Given the description of an element on the screen output the (x, y) to click on. 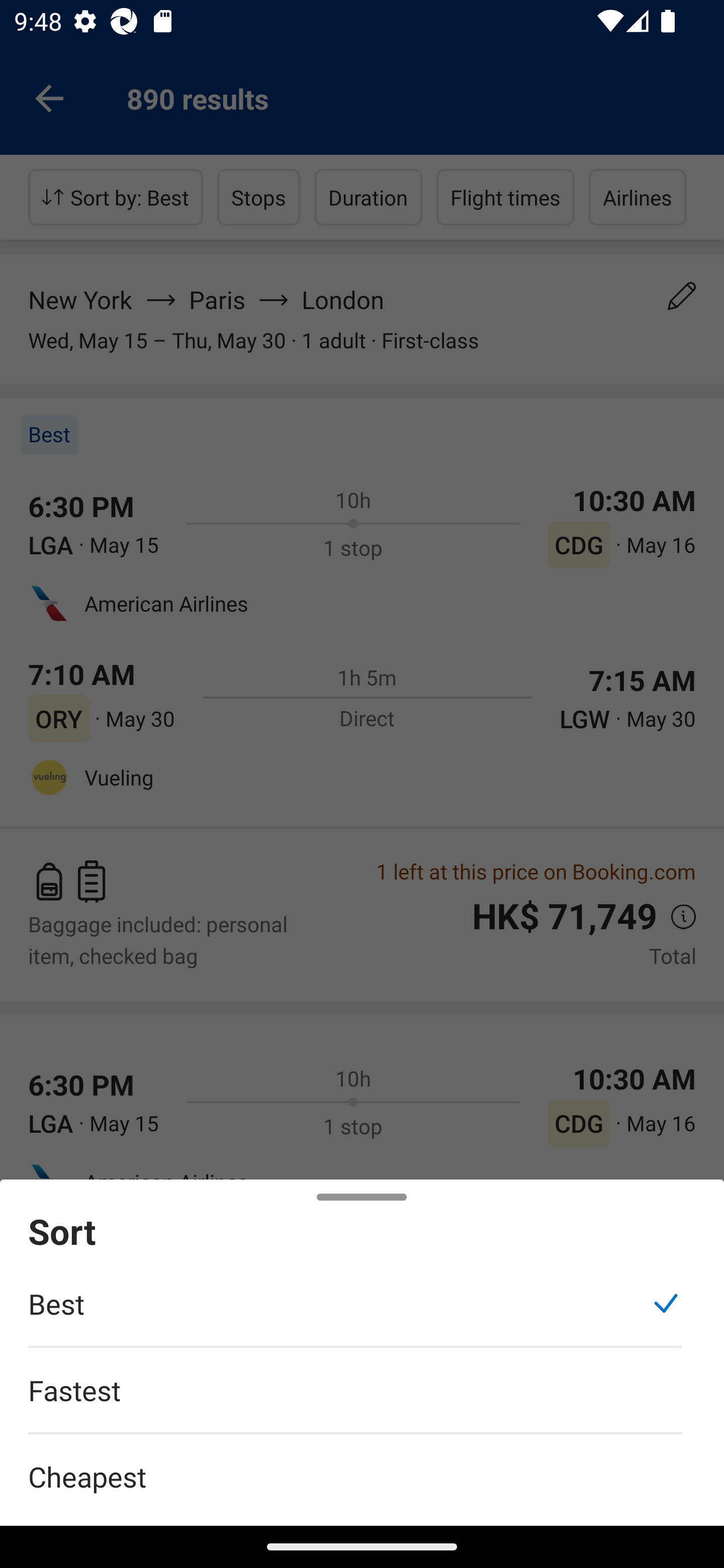
Best (355, 1313)
Fastest (355, 1399)
Cheapest (362, 1465)
